Given the description of an element on the screen output the (x, y) to click on. 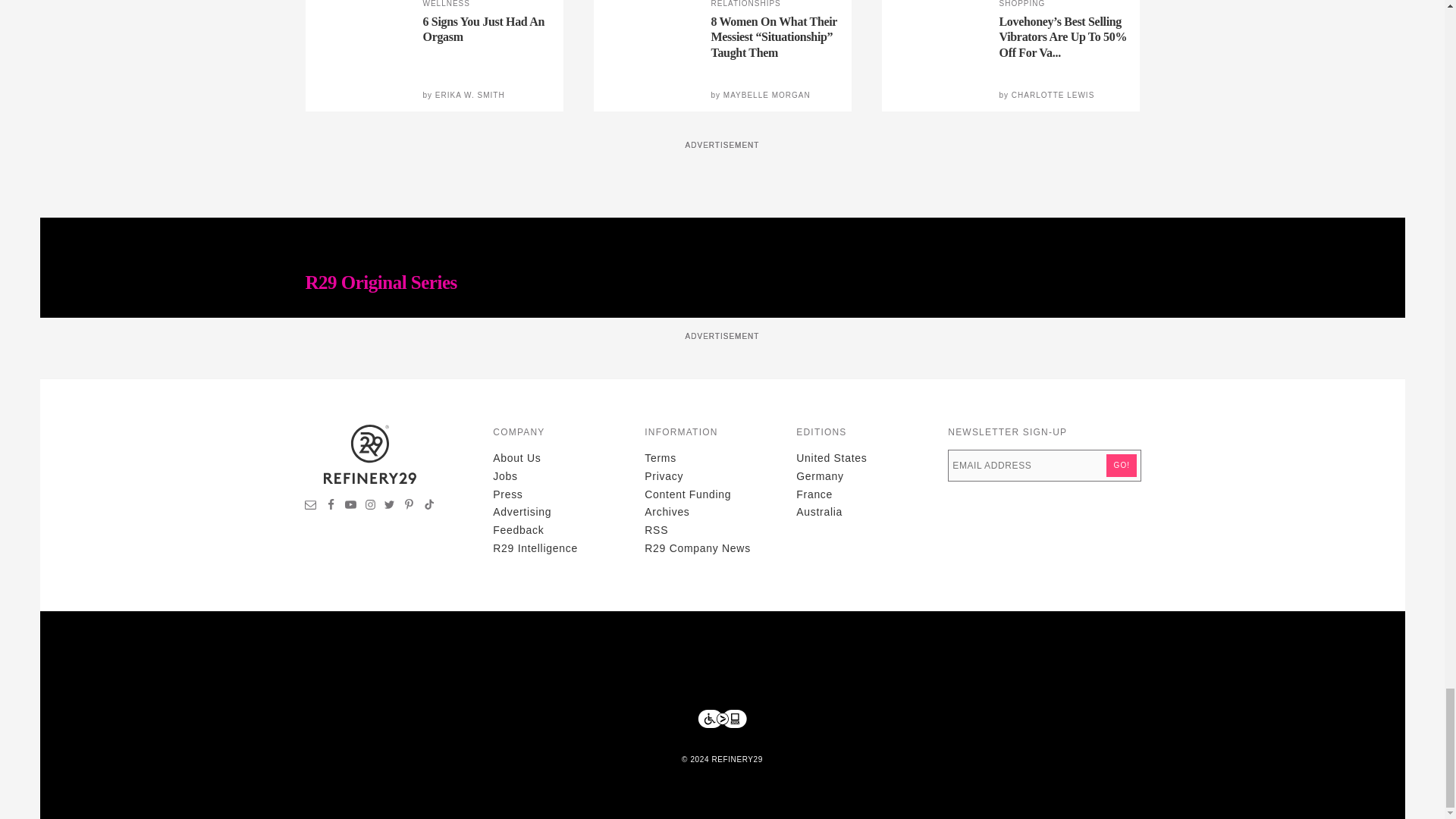
Sign up for newsletters (310, 506)
Visit Refinery29 on YouTube (350, 506)
Visit Refinery29 on TikTok (428, 506)
